Given the description of an element on the screen output the (x, y) to click on. 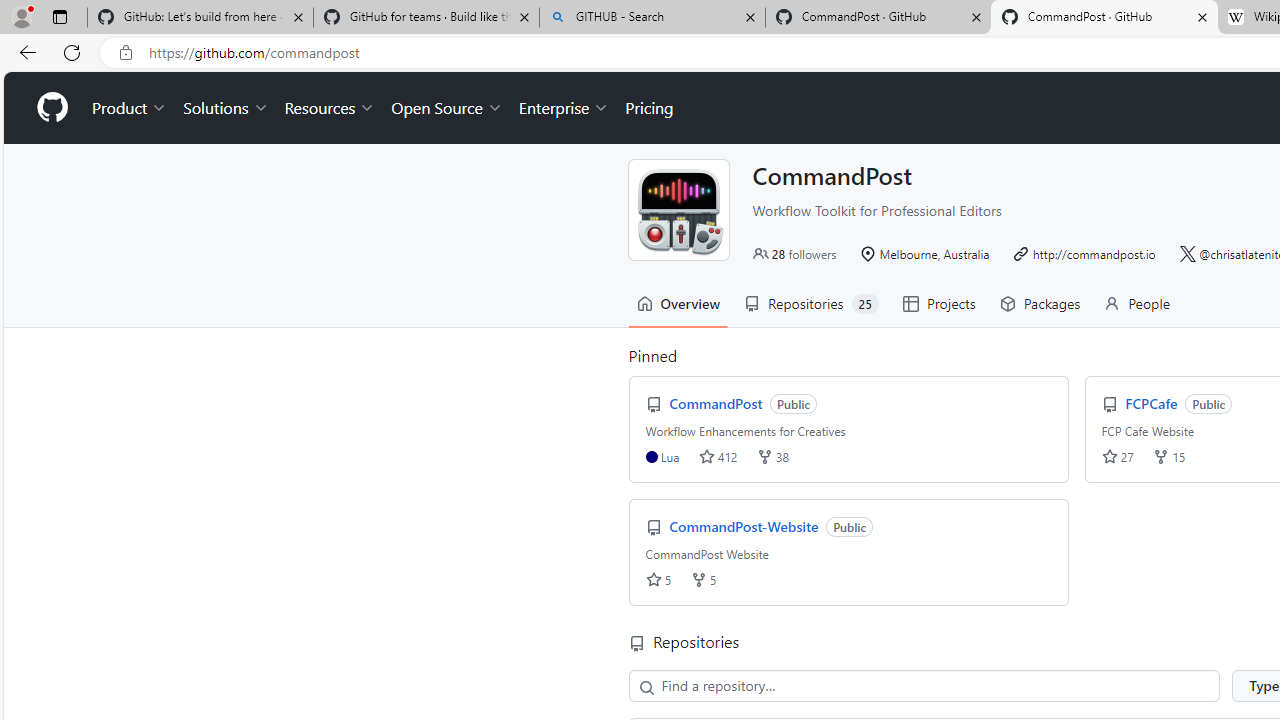
Projects (938, 303)
Enterprise (563, 107)
forks 15 (1169, 456)
Overview (678, 303)
forks 38 (772, 456)
FCPCafe (1153, 403)
forks 5 (702, 579)
CommandPost (717, 403)
Enterprise (563, 107)
stars 5 (658, 579)
Pricing (649, 107)
